Given the description of an element on the screen output the (x, y) to click on. 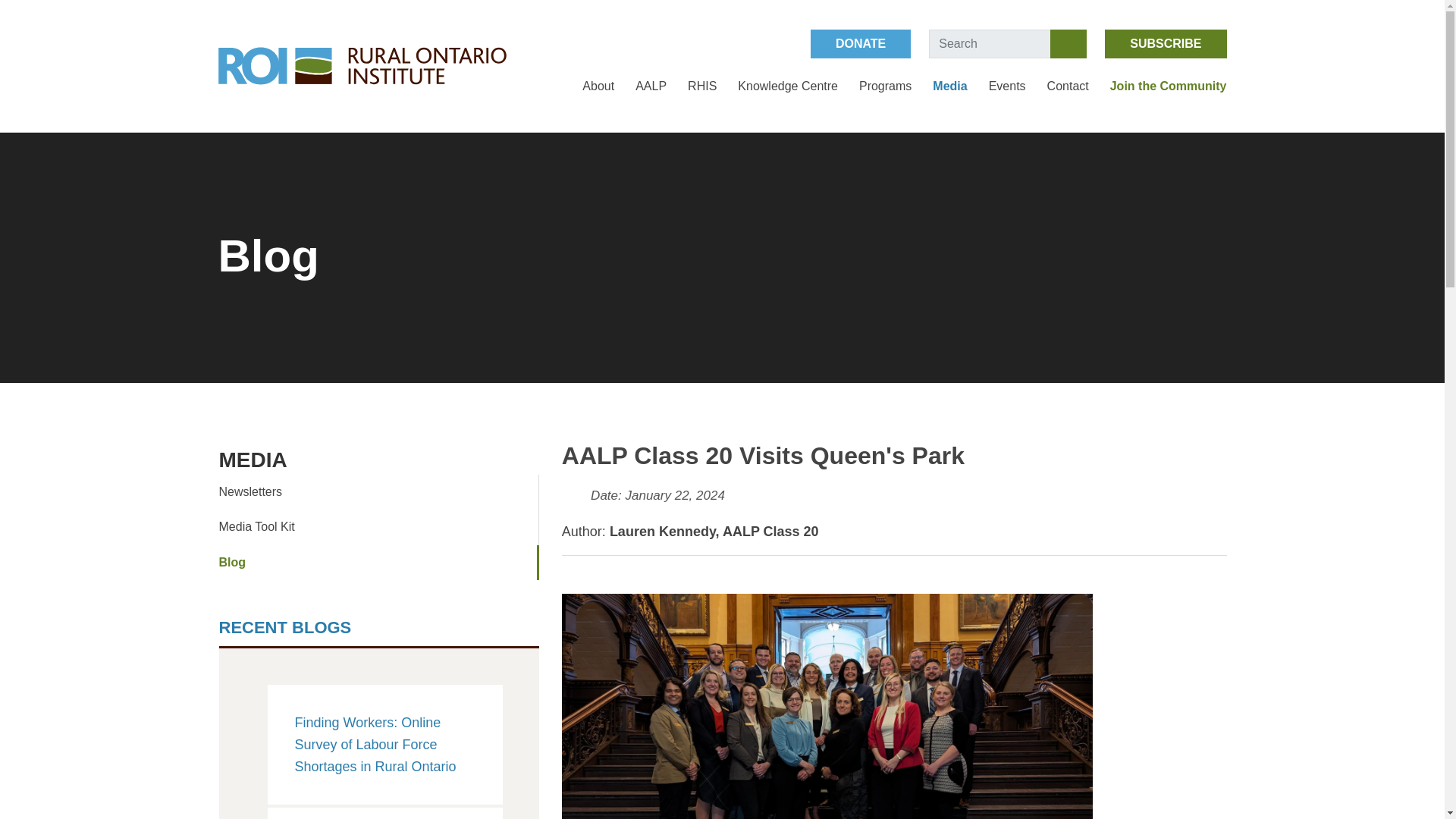
SEARCH (1067, 43)
AALP (650, 86)
RHIS (701, 86)
Knowledge Centre (788, 86)
Programs (885, 86)
About (598, 86)
SUBSCRIBE (1165, 43)
DONATE (860, 43)
